Given the description of an element on the screen output the (x, y) to click on. 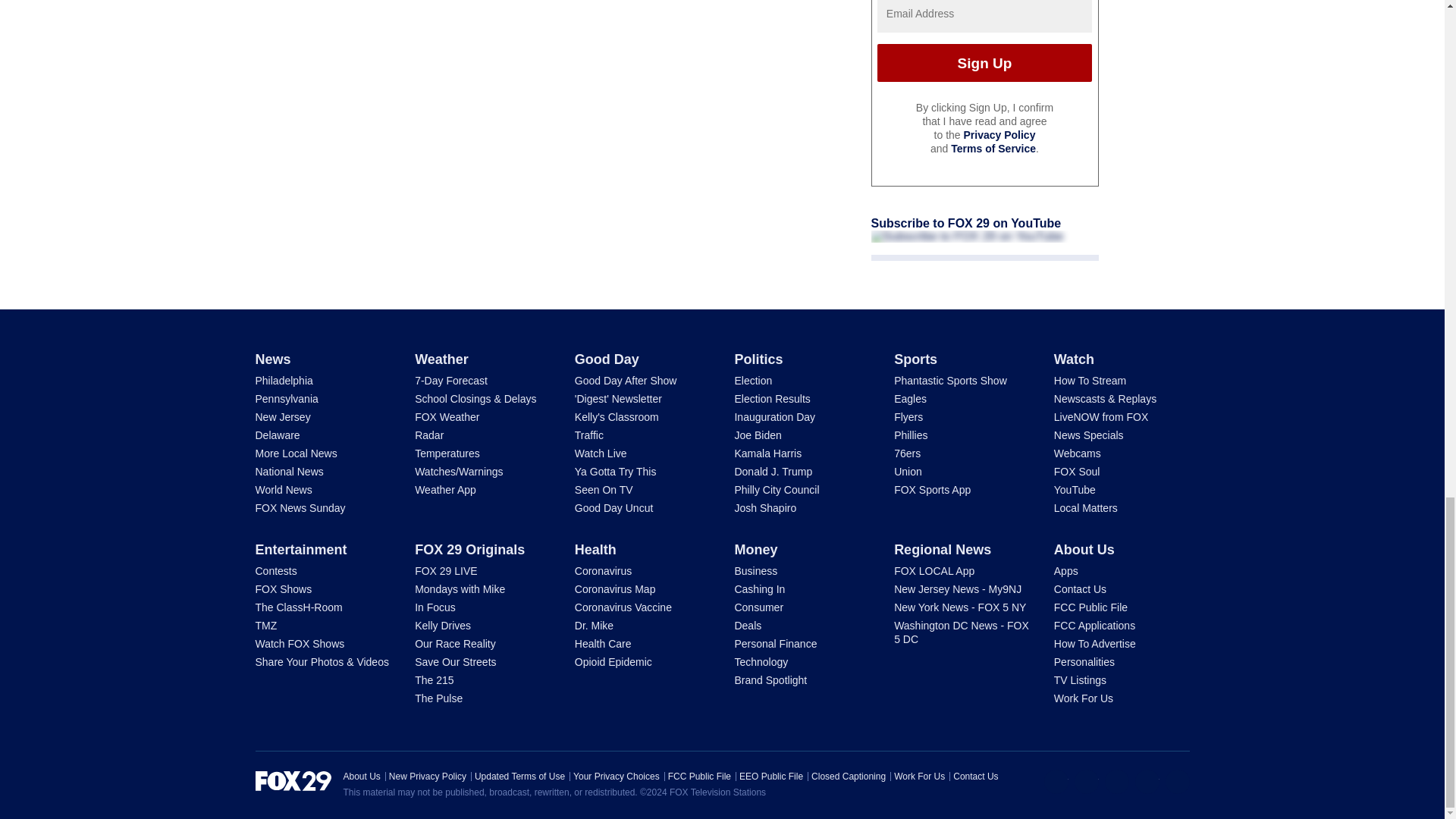
Sign Up (984, 62)
